Given the description of an element on the screen output the (x, y) to click on. 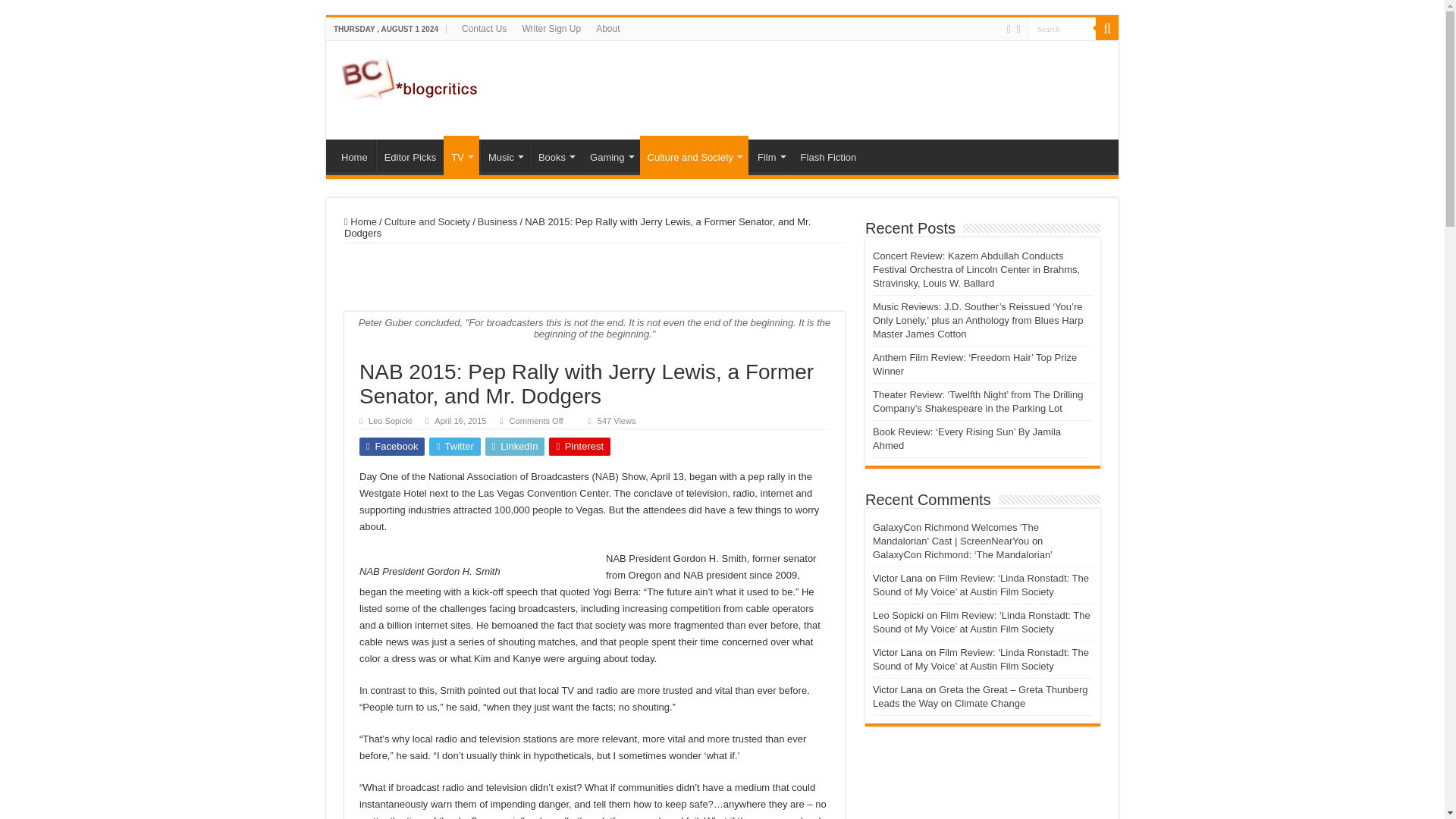
Search (1061, 28)
Blogcritics (409, 75)
Search (1061, 28)
Search (1061, 28)
Advertisement (830, 162)
NAB Show site (605, 620)
